Given the description of an element on the screen output the (x, y) to click on. 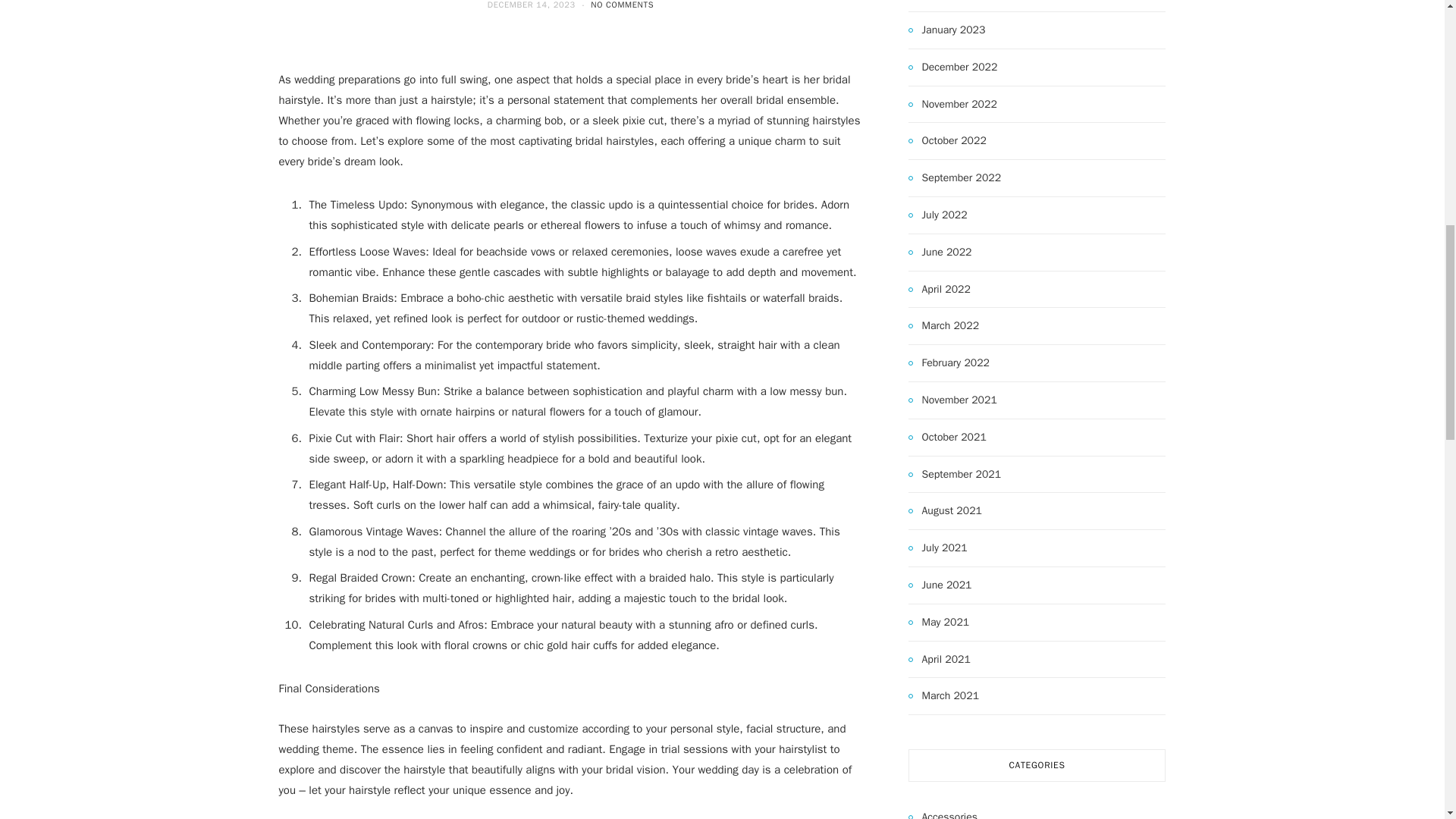
NO COMMENTS (622, 4)
DECEMBER 14, 2023 (532, 4)
